Given the description of an element on the screen output the (x, y) to click on. 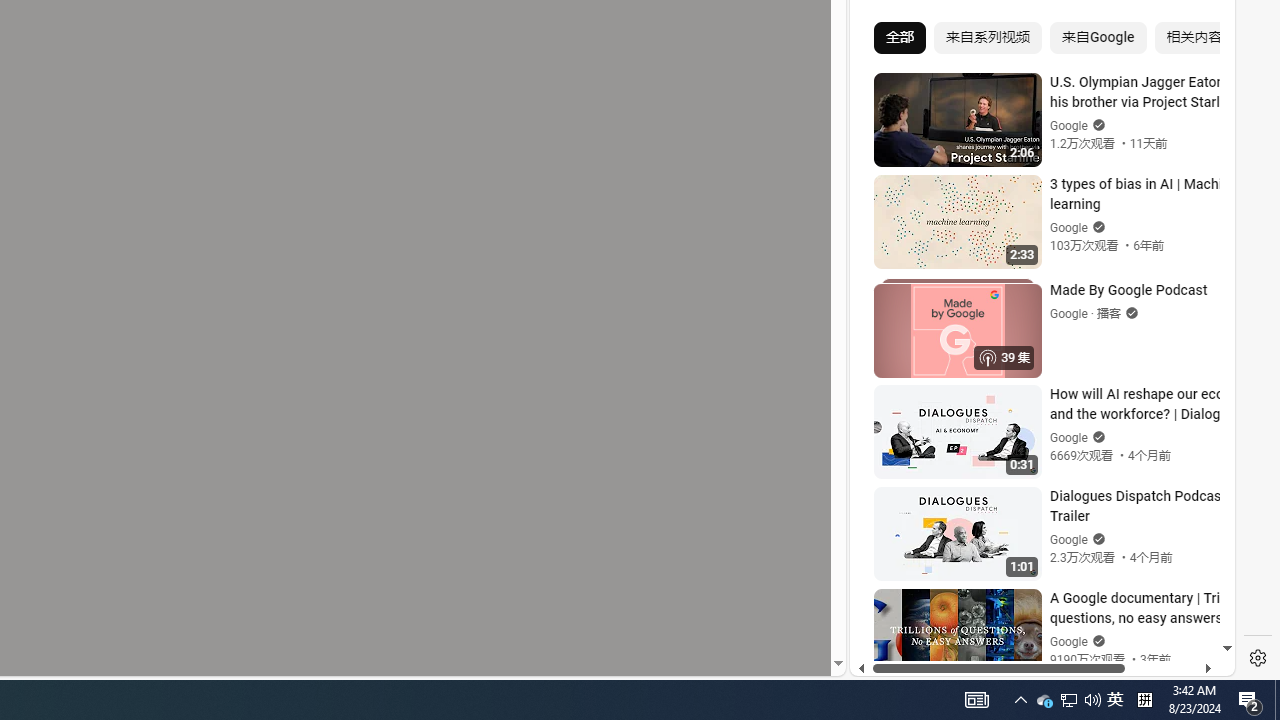
you (1034, 609)
